Given the description of an element on the screen output the (x, y) to click on. 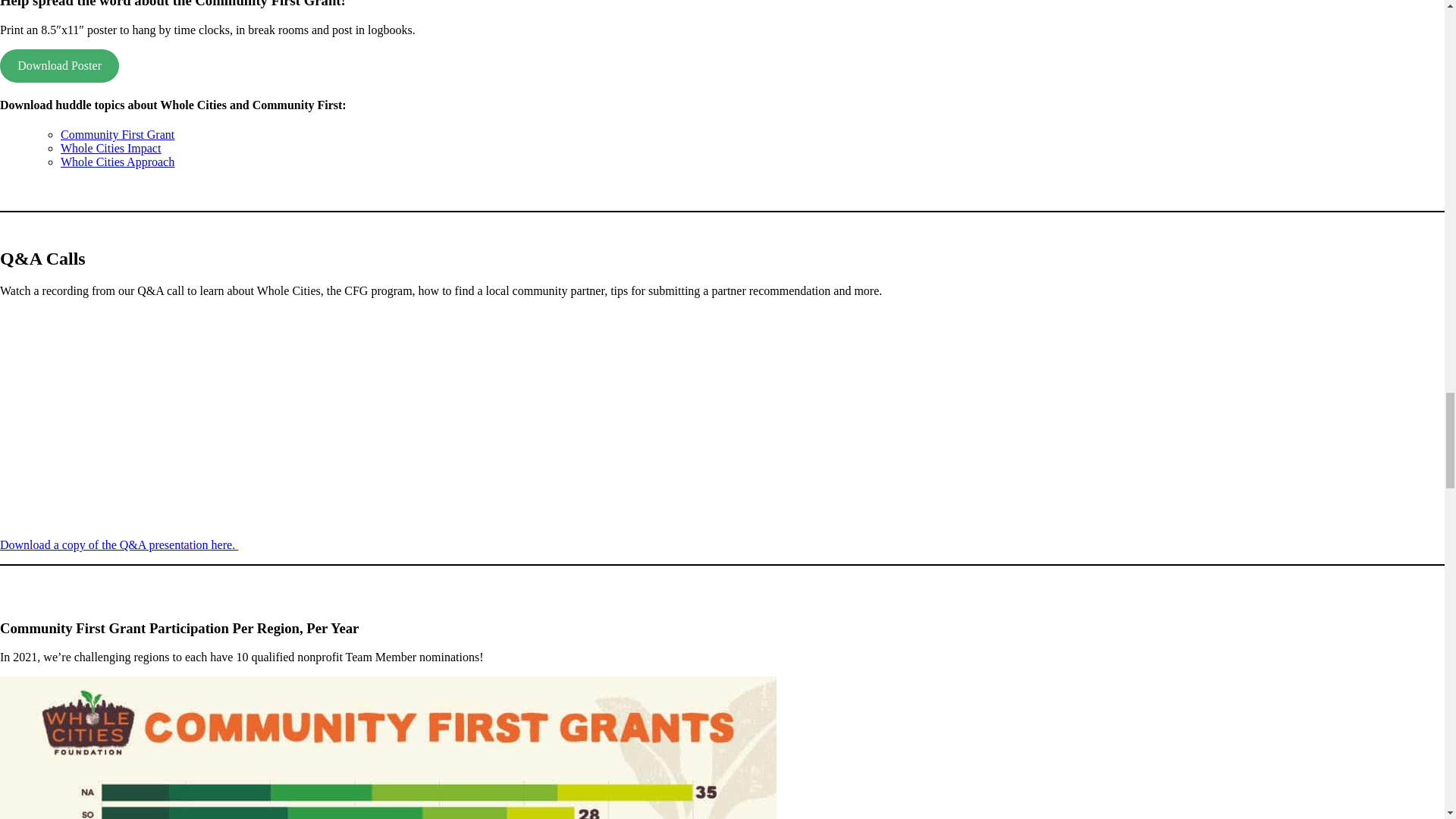
2021 Whole Cities Foundation Community First Grant (189, 416)
Download Poster (59, 65)
Community First Grant (117, 133)
Whole Cities Approach (117, 161)
Whole Cities Impact (110, 147)
